Given the description of an element on the screen output the (x, y) to click on. 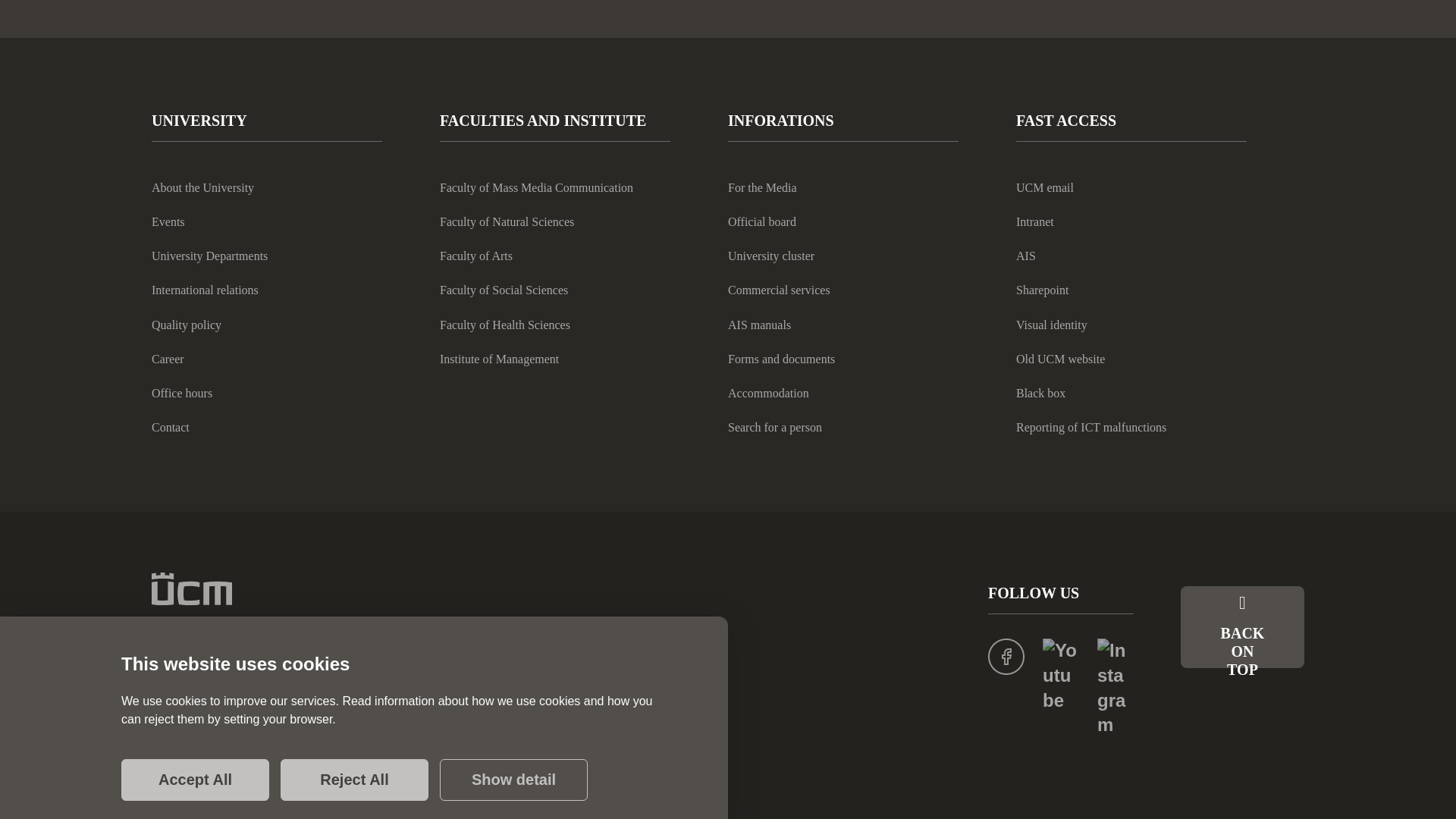
Open in new window (1042, 289)
Events (167, 221)
Contact (170, 426)
Office hours (181, 392)
Faculty of Natural Sciences (506, 221)
Open in new window (1051, 324)
Faculty of Arts (475, 255)
Faculty of Mass Media Communication (536, 187)
About the University (202, 187)
International relations (205, 289)
